Given the description of an element on the screen output the (x, y) to click on. 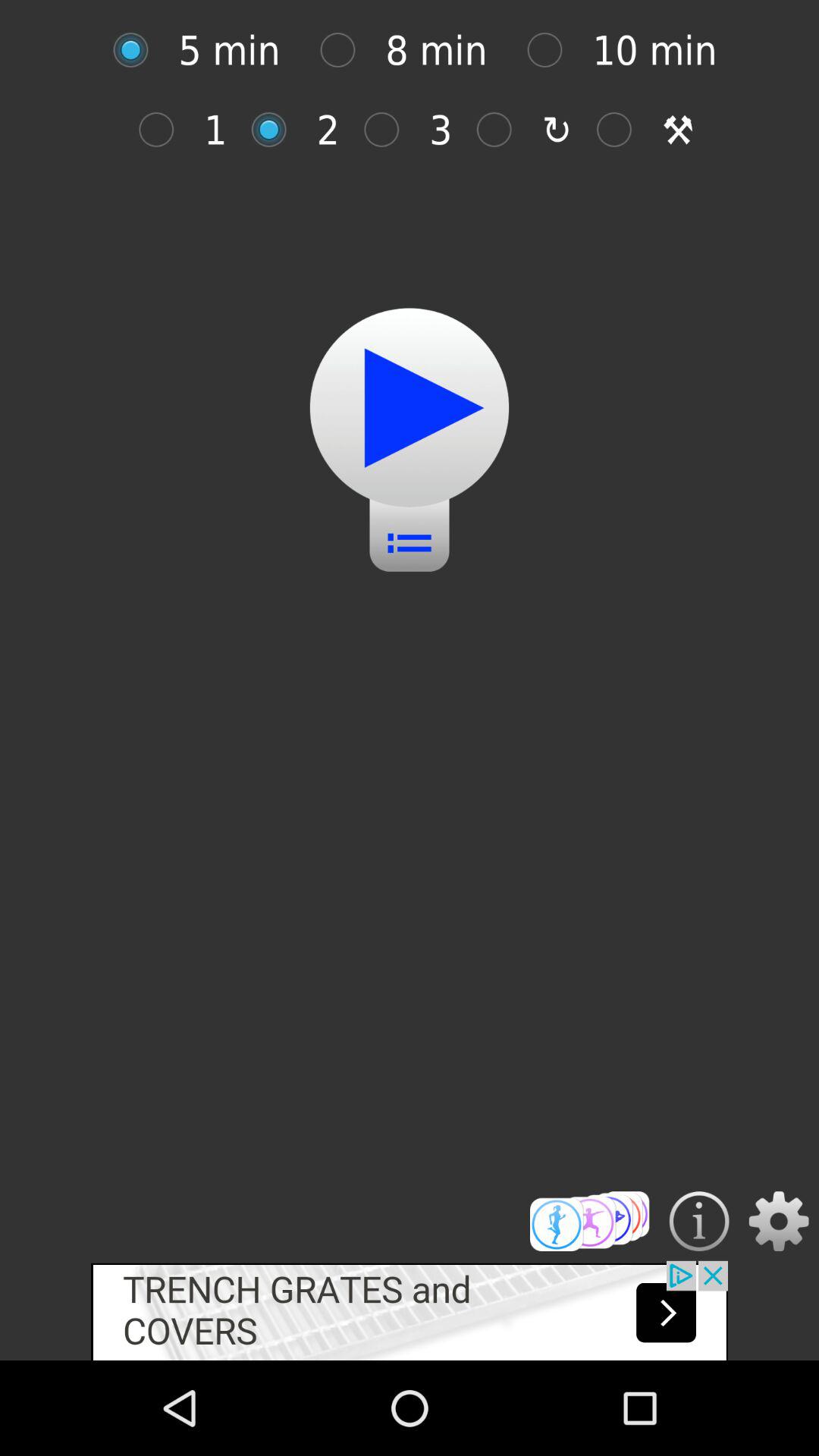
click this button to get 10 minutes of video (552, 49)
